Given the description of an element on the screen output the (x, y) to click on. 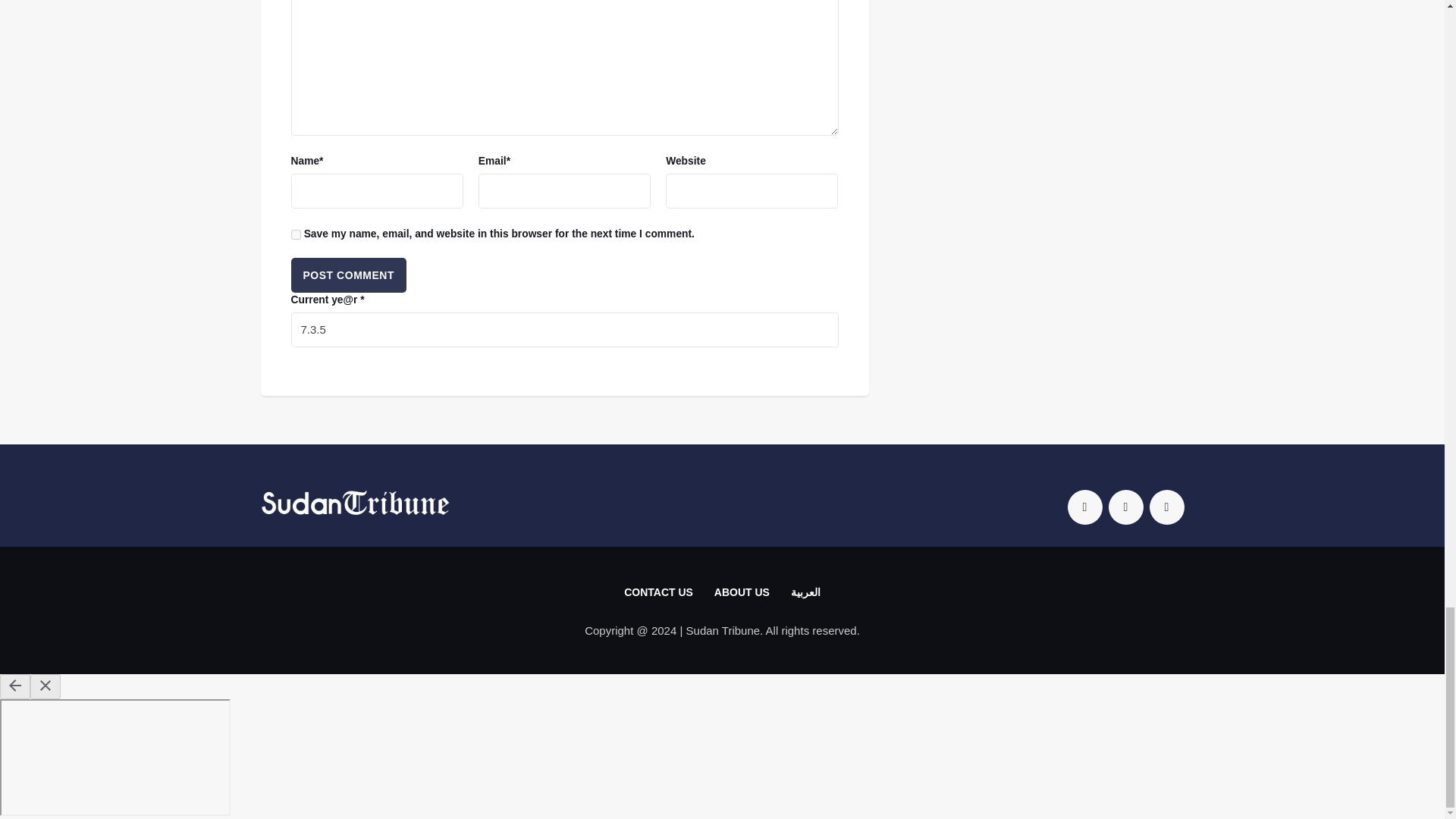
7.3.5 (564, 329)
yes (296, 234)
Post Comment (349, 274)
